Given the description of an element on the screen output the (x, y) to click on. 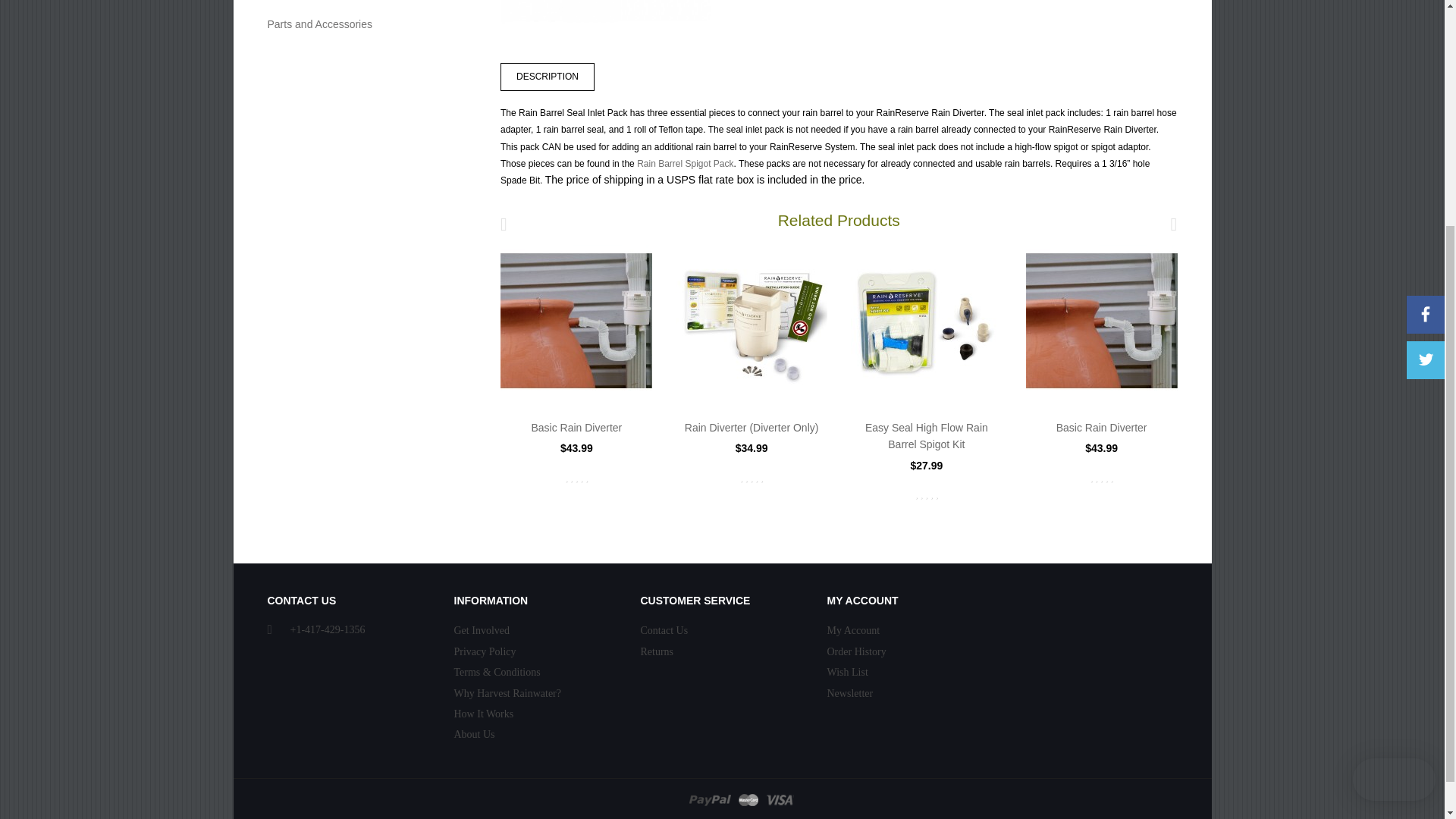
Easy Rain Barrel Seal Inlet Pack (605, 15)
